Given the description of an element on the screen output the (x, y) to click on. 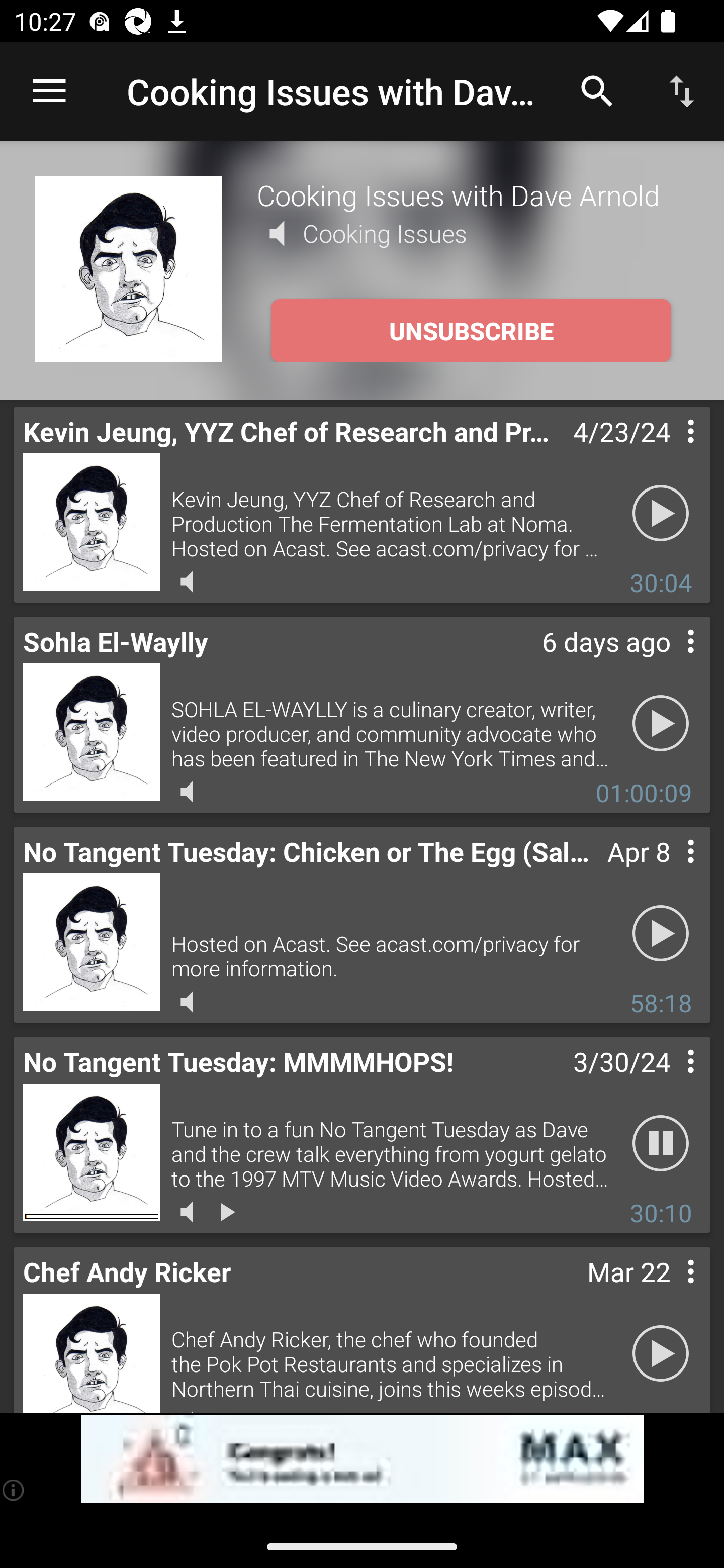
Open navigation sidebar (49, 91)
Search (597, 90)
Sort (681, 90)
UNSUBSCRIBE (470, 330)
Contextual menu (668, 451)
Play (660, 513)
Contextual menu (668, 661)
Play (660, 723)
Contextual menu (668, 870)
Play (660, 933)
Contextual menu (668, 1080)
Pause (660, 1143)
Contextual menu (668, 1290)
Play (660, 1353)
app-monetization (362, 1459)
(i) (14, 1489)
